Given the description of an element on the screen output the (x, y) to click on. 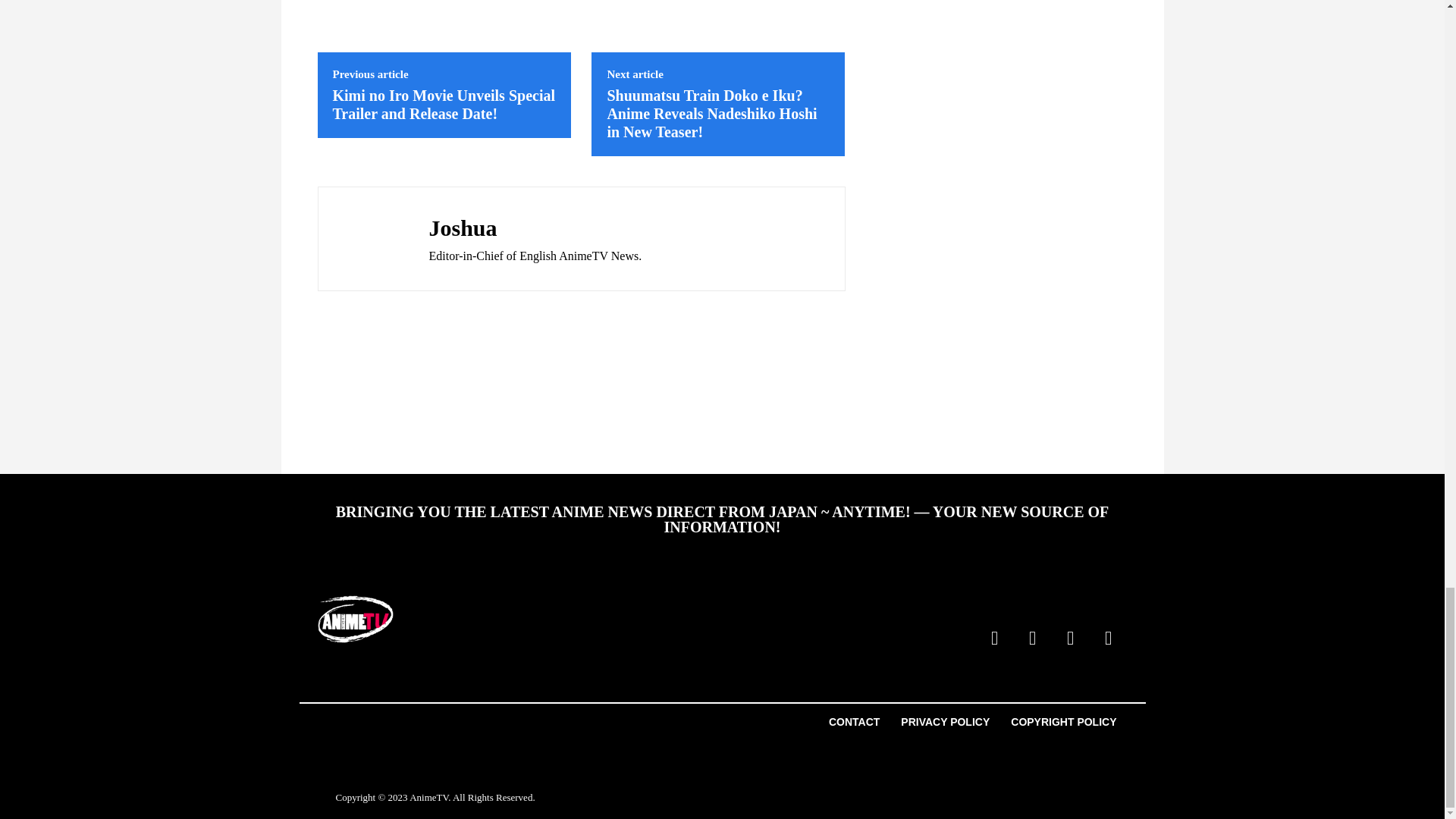
Kimi no Iro Movie Unveils Special Trailer and Release Date! (442, 104)
Joshua (535, 227)
Joshua (369, 238)
